Given the description of an element on the screen output the (x, y) to click on. 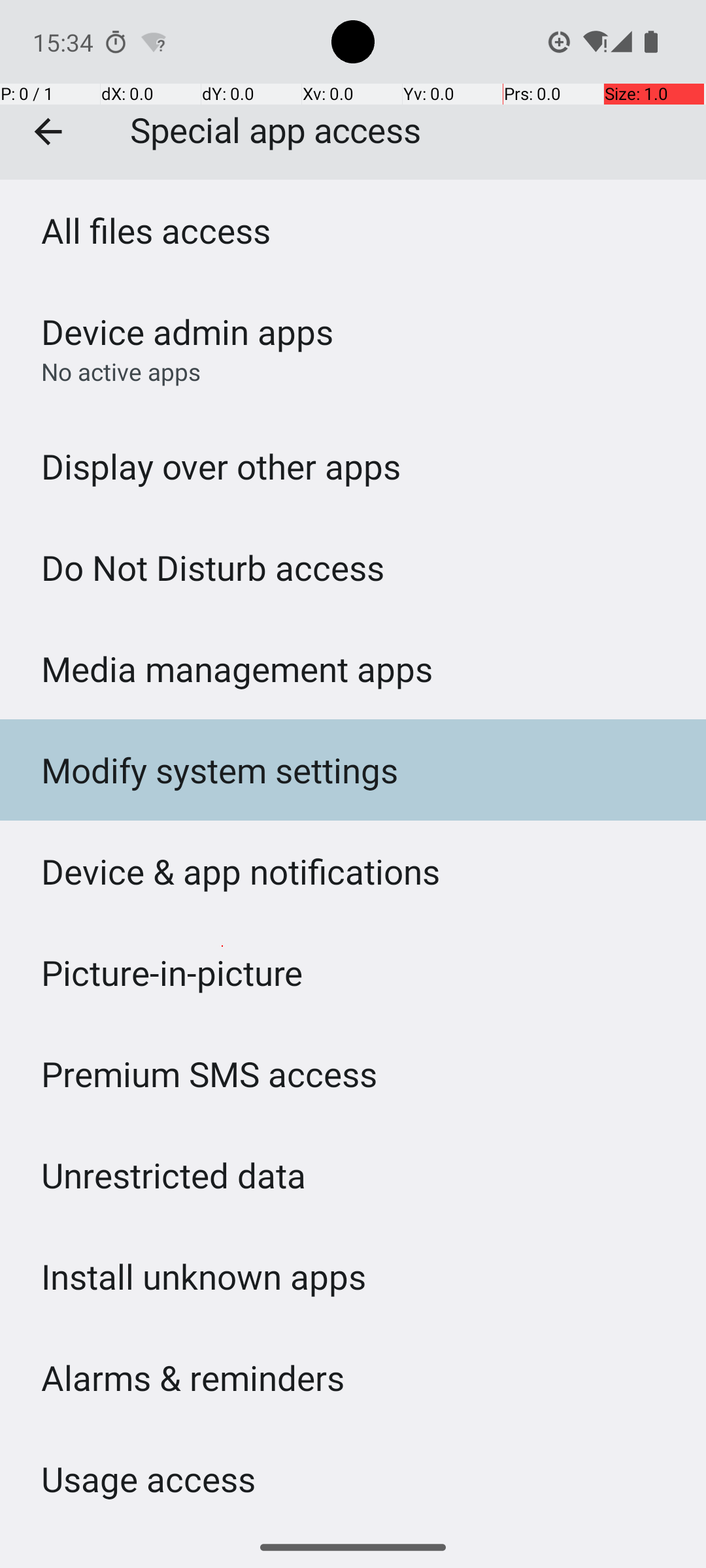
Special app access Element type: android.widget.FrameLayout (353, 89)
All files access Element type: android.widget.TextView (155, 230)
Device admin apps Element type: android.widget.TextView (187, 331)
No active apps Element type: android.widget.TextView (120, 371)
Display over other apps Element type: android.widget.TextView (220, 465)
Do Not Disturb access Element type: android.widget.TextView (212, 567)
Media management apps Element type: android.widget.TextView (236, 668)
Modify system settings Element type: android.widget.TextView (219, 769)
Picture-in-picture Element type: android.widget.TextView (172, 972)
Premium SMS access Element type: android.widget.TextView (209, 1073)
Install unknown apps Element type: android.widget.TextView (203, 1276)
Alarms & reminders Element type: android.widget.TextView (192, 1377)
Usage access Element type: android.widget.TextView (148, 1478)
